Given the description of an element on the screen output the (x, y) to click on. 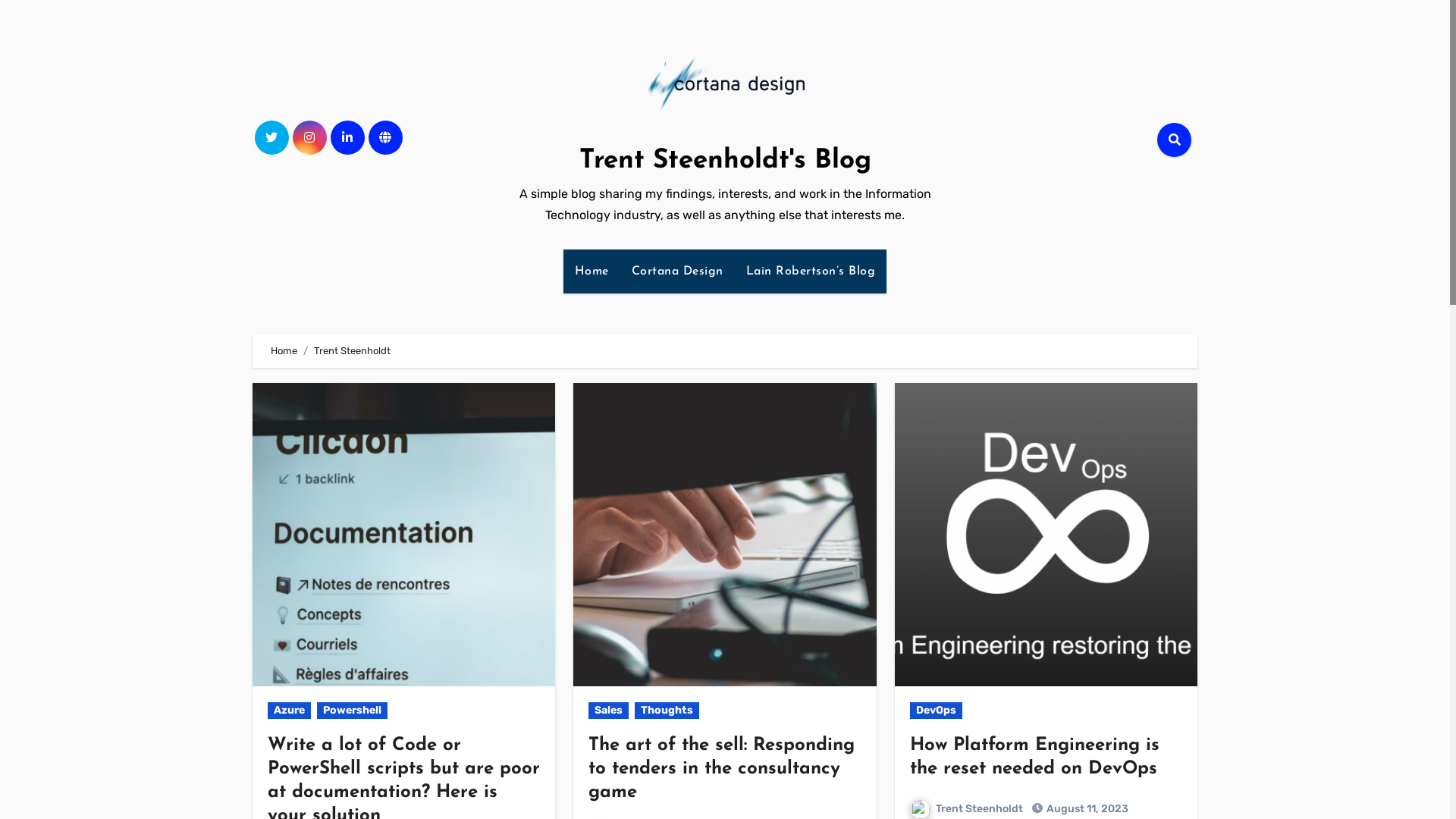
Trent Steenholdt Element type: text (966, 808)
Home Element type: text (591, 271)
Cortana Design Element type: text (677, 271)
Home Element type: text (283, 350)
Trent Steenholdt's Blog Element type: text (725, 160)
Azure Element type: text (288, 710)
Thoughts Element type: text (666, 710)
Powershell Element type: text (351, 710)
Sales Element type: text (608, 710)
How Platform Engineering is the reset needed on DevOps Element type: text (1034, 757)
DevOps Element type: text (936, 710)
August 11, 2023 Element type: text (1087, 808)
